Given the description of an element on the screen output the (x, y) to click on. 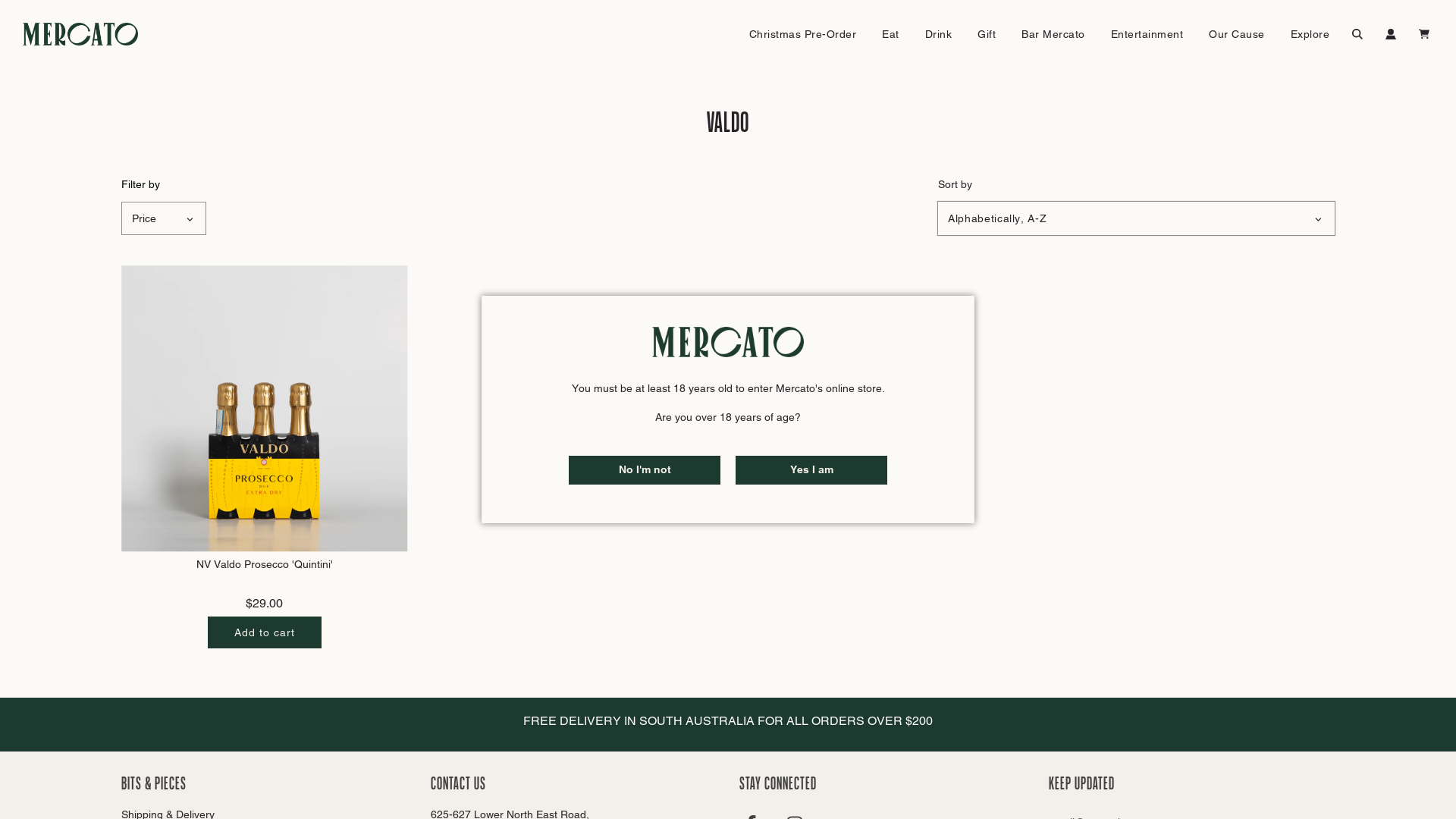
NV Valdo Prosecco 'Quintini' Element type: text (264, 564)
Eat Element type: text (890, 33)
Add to cart Element type: text (264, 632)
Entertainment Element type: text (1147, 33)
$29.00 Element type: text (263, 603)
Our Cause Element type: text (1236, 33)
Explore Element type: text (1309, 33)
Yes I am Element type: text (811, 469)
Christmas Pre-Order Element type: text (802, 33)
Drink Element type: text (938, 33)
Log in Element type: hover (1390, 33)
Gift Element type: text (986, 33)
Bar Mercato Element type: text (1053, 33)
No I'm not Element type: text (644, 469)
NV Valdo Prosecco 'Quintini' Element type: hover (264, 408)
